Given the description of an element on the screen output the (x, y) to click on. 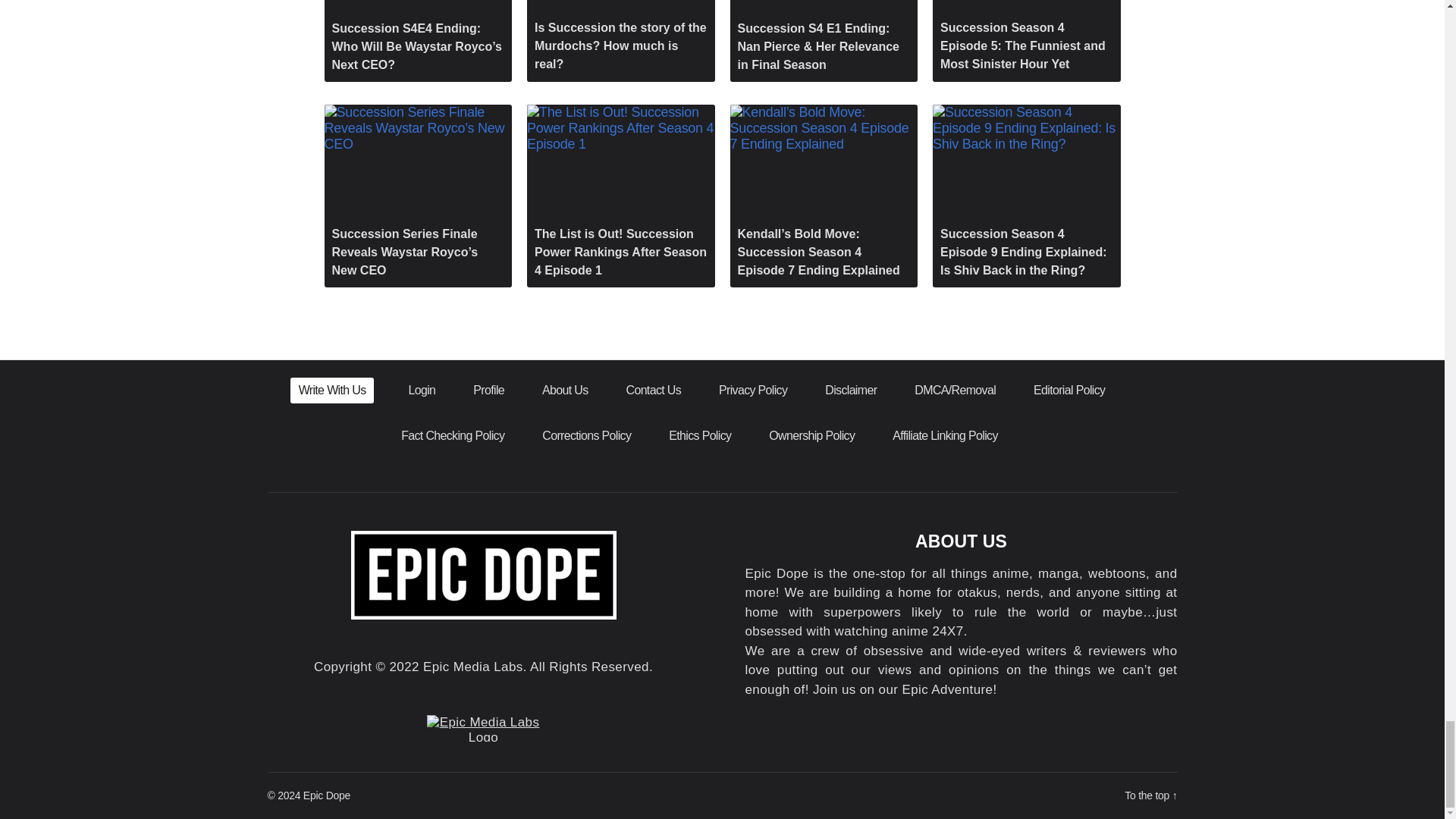
Is Succession the story of the Murdochs? How much is real? (620, 40)
